Given the description of an element on the screen output the (x, y) to click on. 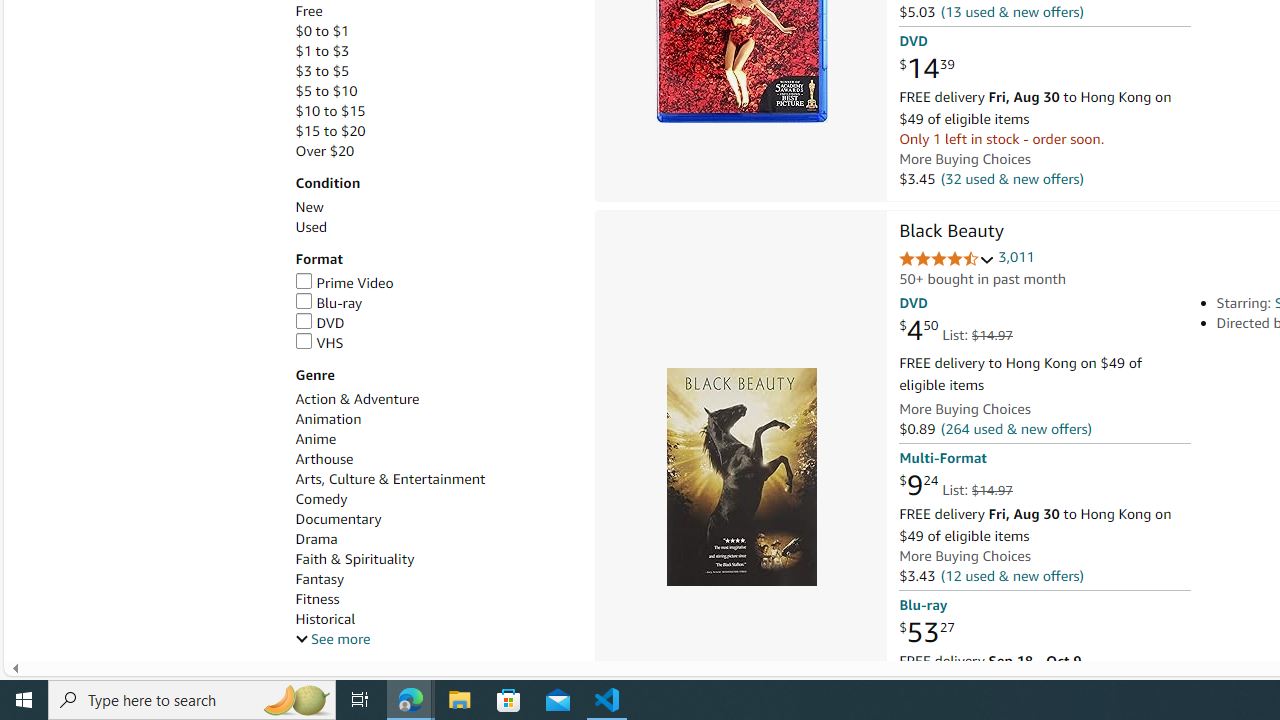
$10 to $15 (330, 111)
(13 used & new offers) (1011, 12)
Arts, Culture & Entertainment (390, 479)
Arthouse (324, 459)
Comedy (321, 499)
Action & Adventure (356, 399)
Arthouse (434, 459)
Fantasy (319, 579)
Prime Video (344, 282)
$3 to $5 (434, 71)
$10 to $15 (434, 111)
Anime (434, 439)
$1 to $3 (321, 51)
$5 to $10 (326, 91)
DVD (434, 323)
